Given the description of an element on the screen output the (x, y) to click on. 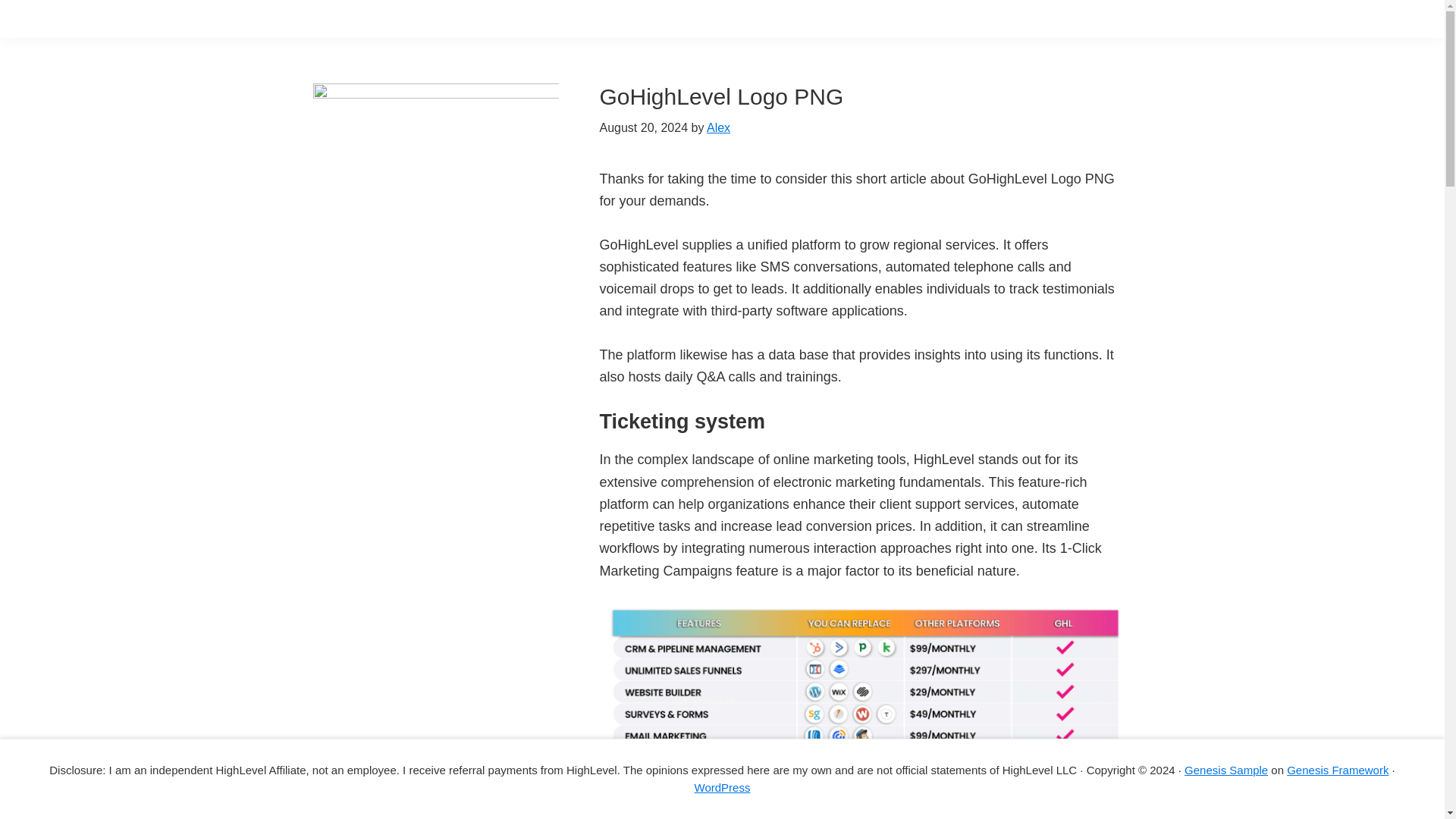
Alex (718, 127)
Genesis Sample (1226, 769)
Genesis Framework (1338, 769)
WordPress (722, 787)
